Given the description of an element on the screen output the (x, y) to click on. 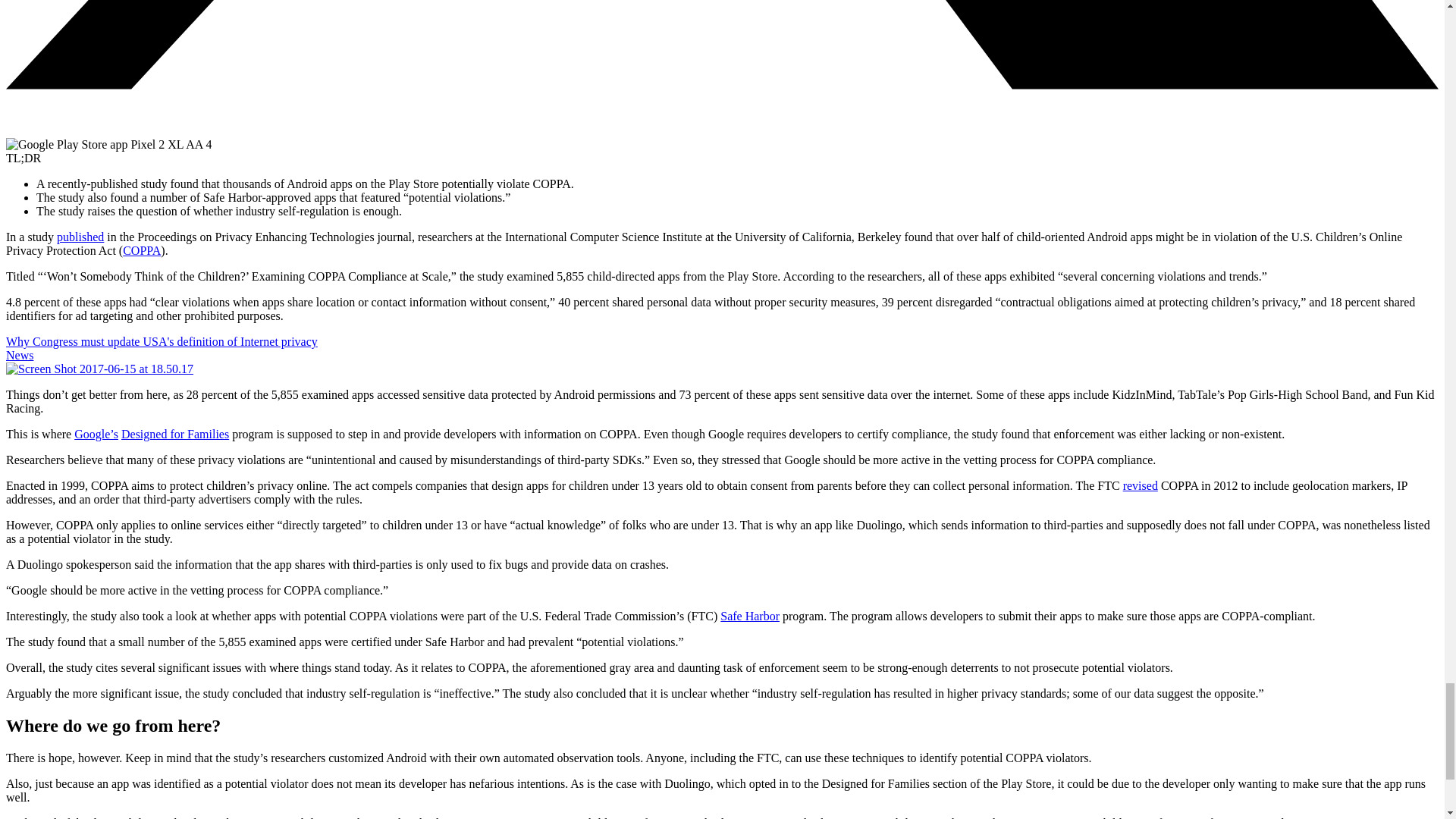
COPPA (141, 250)
Designed for Families (174, 433)
revised (1139, 485)
Safe Harbor (749, 615)
Screen Shot 2017-06-15 at 18.50.17 (99, 368)
published (79, 236)
Google Play Store app Pixel 2 XL AA 4 (108, 144)
